Given the description of an element on the screen output the (x, y) to click on. 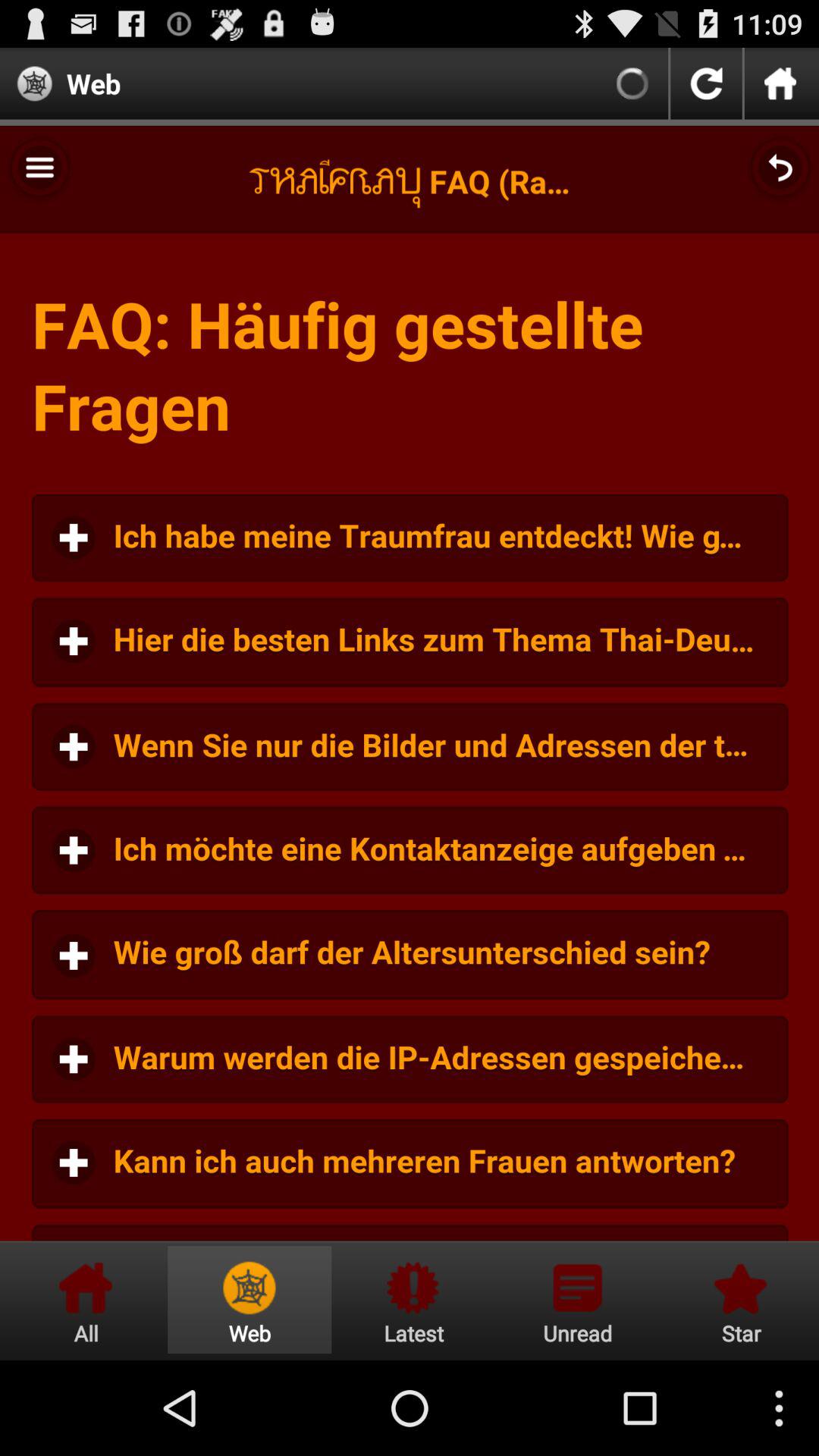
go to web (249, 1299)
